Given the description of an element on the screen output the (x, y) to click on. 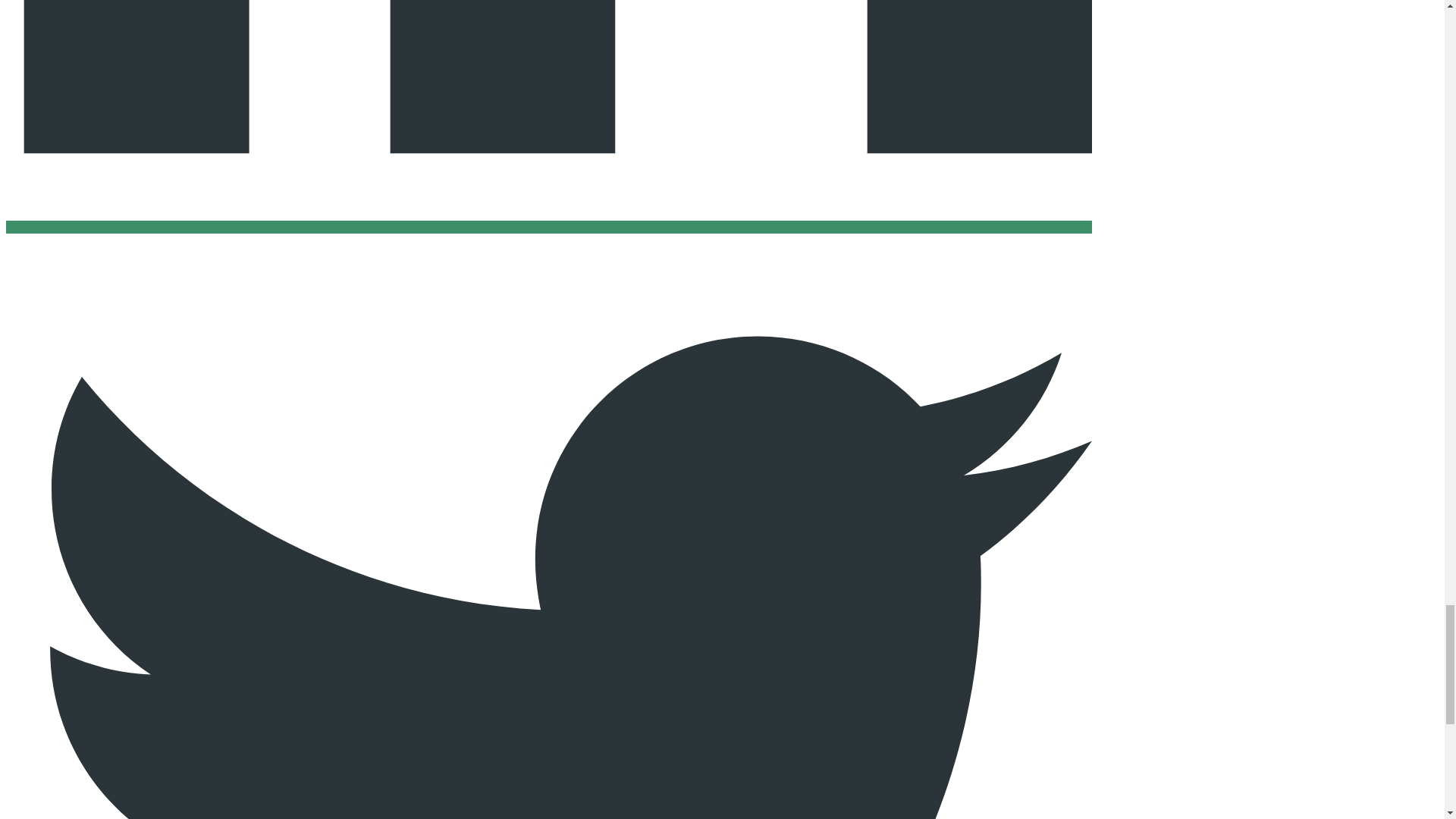
Check us out on LinkedIn (548, 226)
